Given the description of an element on the screen output the (x, y) to click on. 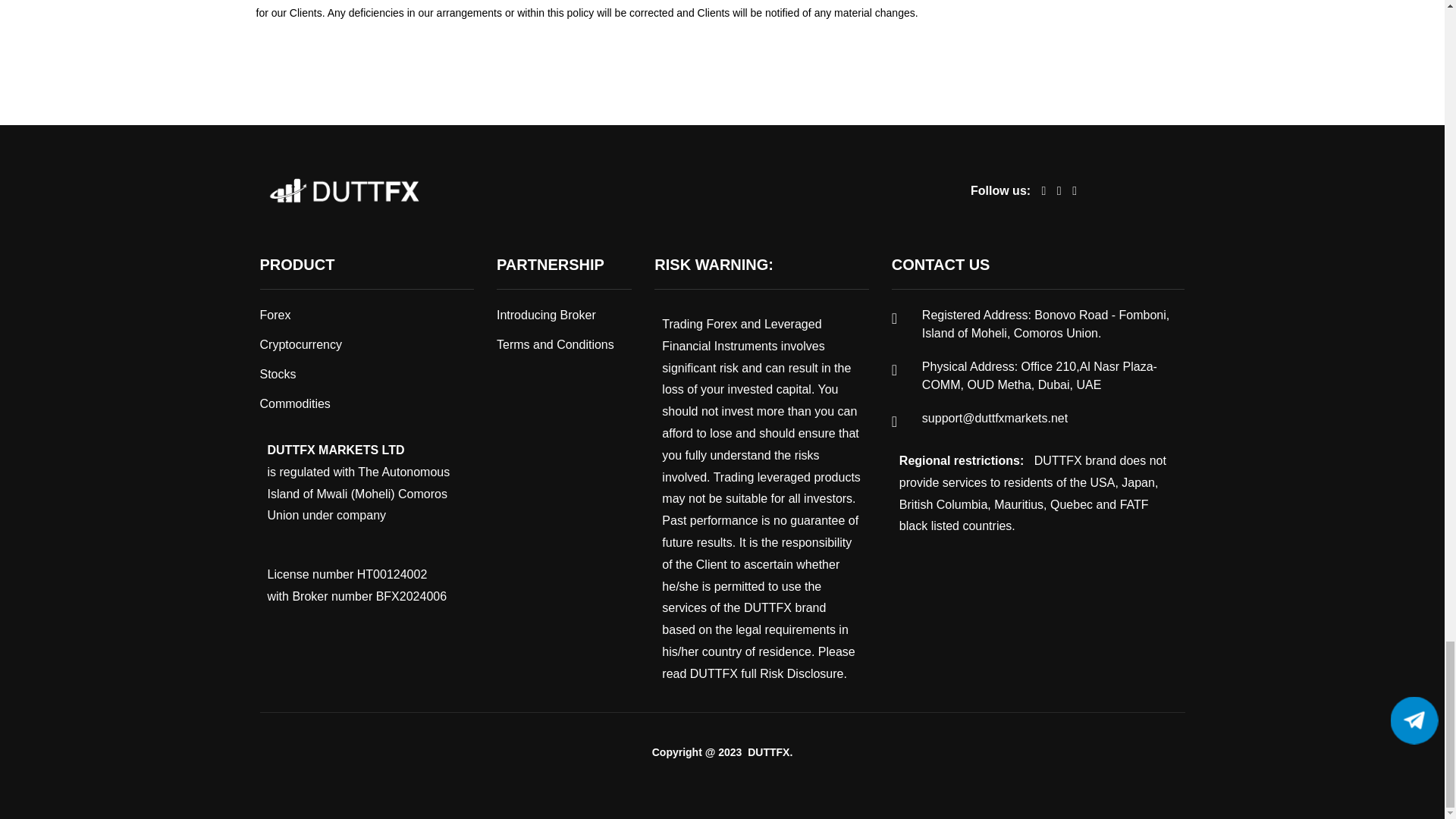
Commodities (294, 403)
Introducing Broker (545, 314)
Cryptocurrency (299, 344)
Forex (274, 314)
Stocks (277, 373)
Terms and Conditions (555, 344)
